Given the description of an element on the screen output the (x, y) to click on. 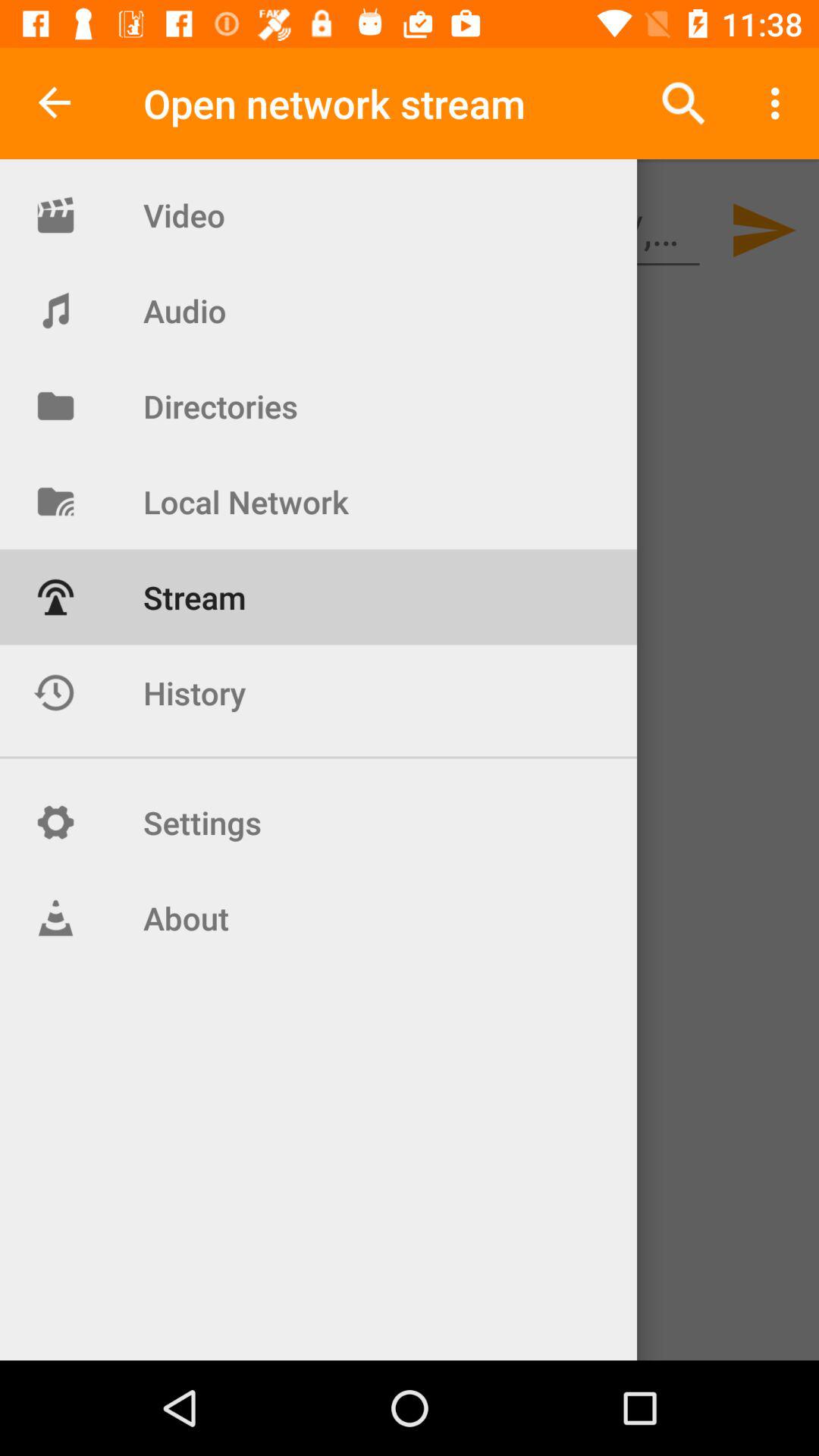
click on menu (779, 103)
